Given the description of an element on the screen output the (x, y) to click on. 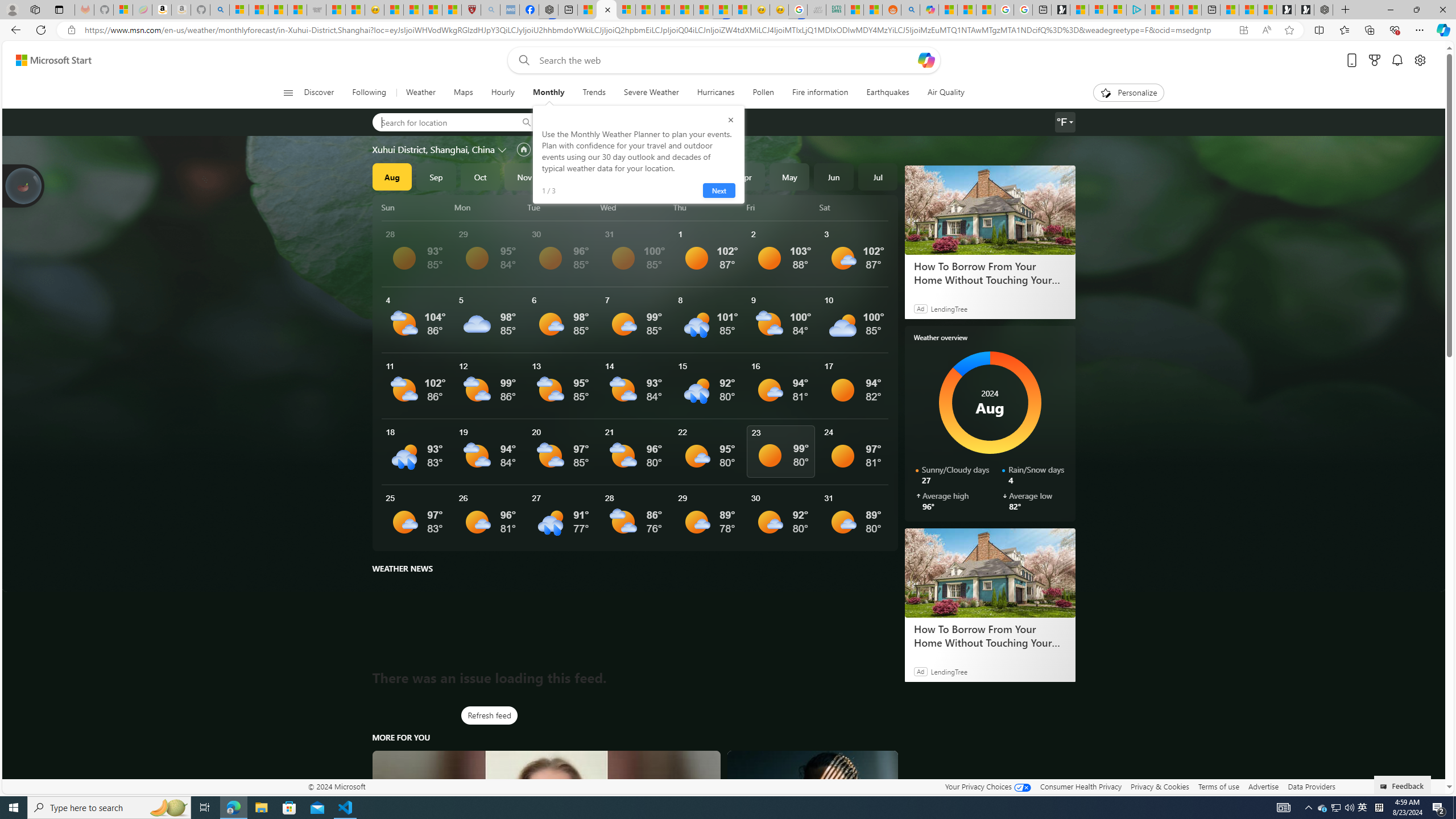
Fri (780, 207)
Data Providers (1311, 785)
Monthly (547, 92)
Microsoft rewards (1374, 60)
Utah sues federal government - Search (910, 9)
Microsoft Copilot in Bing (929, 9)
Aug (391, 176)
Earthquakes (888, 92)
